Given the description of an element on the screen output the (x, y) to click on. 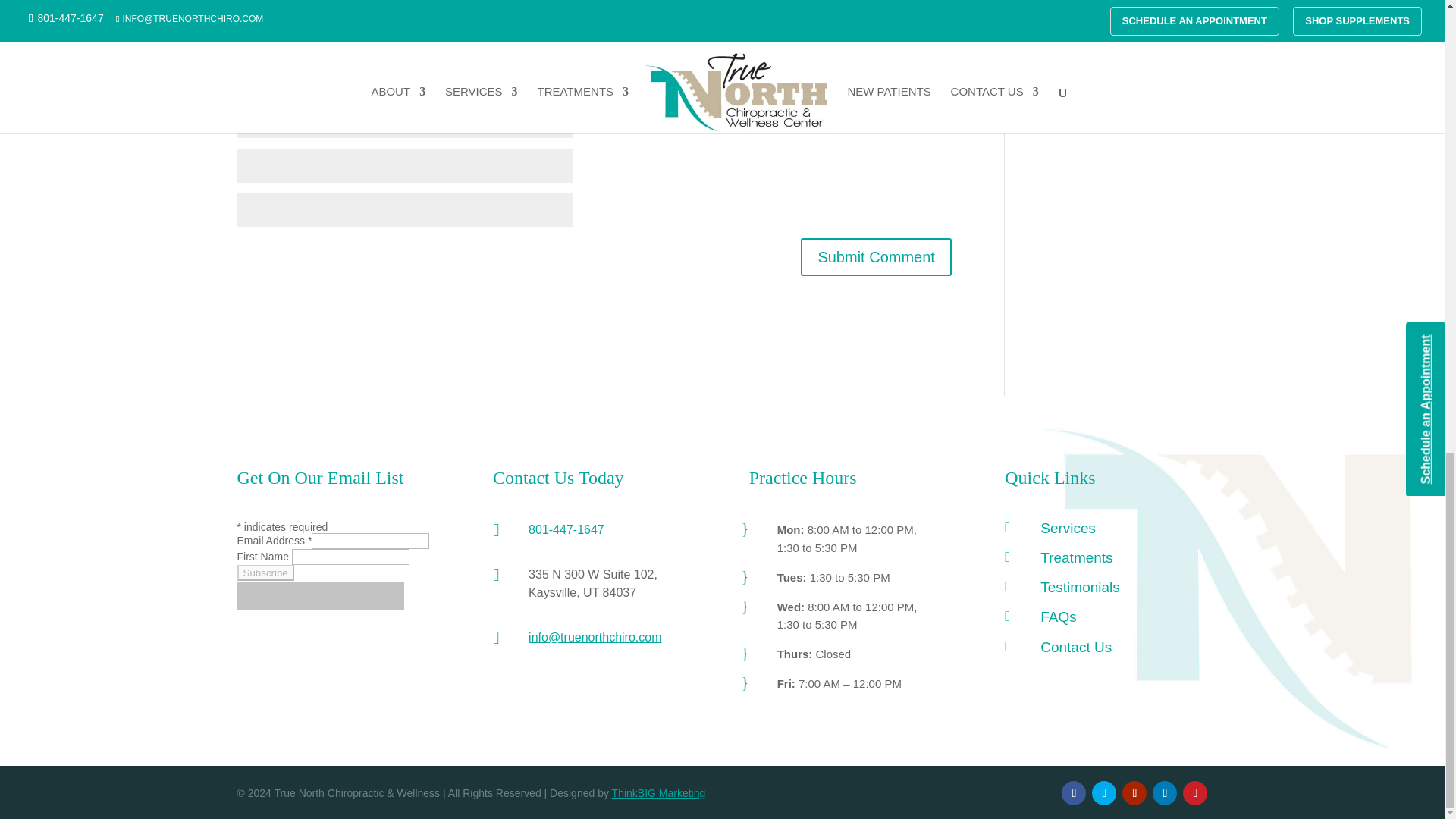
Follow on Pinterest (1194, 793)
Subscribe (264, 572)
Follow on Twitter (1104, 793)
Follow on Youtube (1134, 793)
Follow on Facebook (1073, 793)
Follow on LinkedIn (1164, 793)
Submit Comment (876, 257)
Mailchimp - email marketing made easy and fun (319, 607)
